Given the description of an element on the screen output the (x, y) to click on. 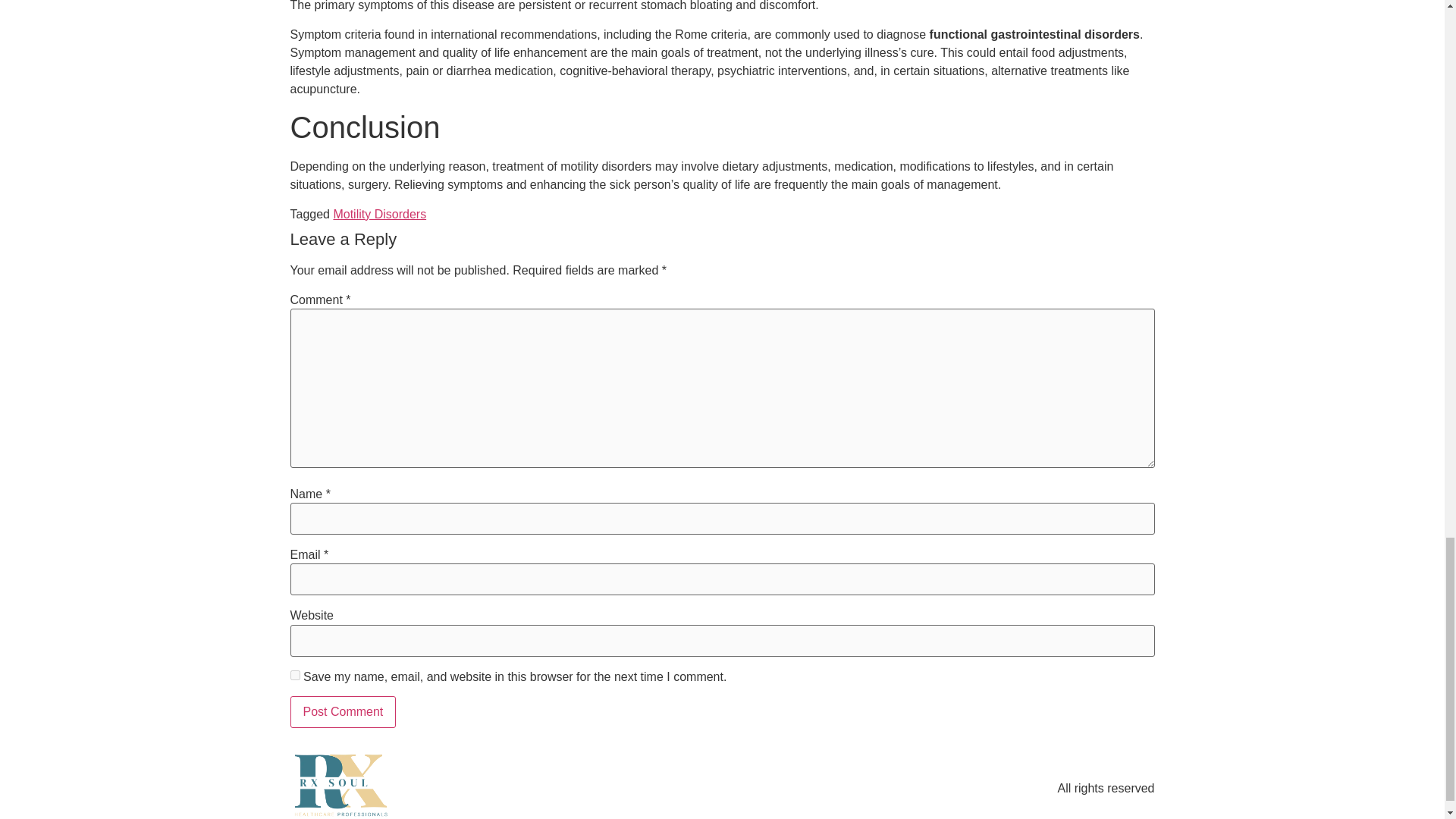
Motility Disorders (379, 214)
Post Comment (342, 712)
yes (294, 675)
Post Comment (342, 712)
